Given the description of an element on the screen output the (x, y) to click on. 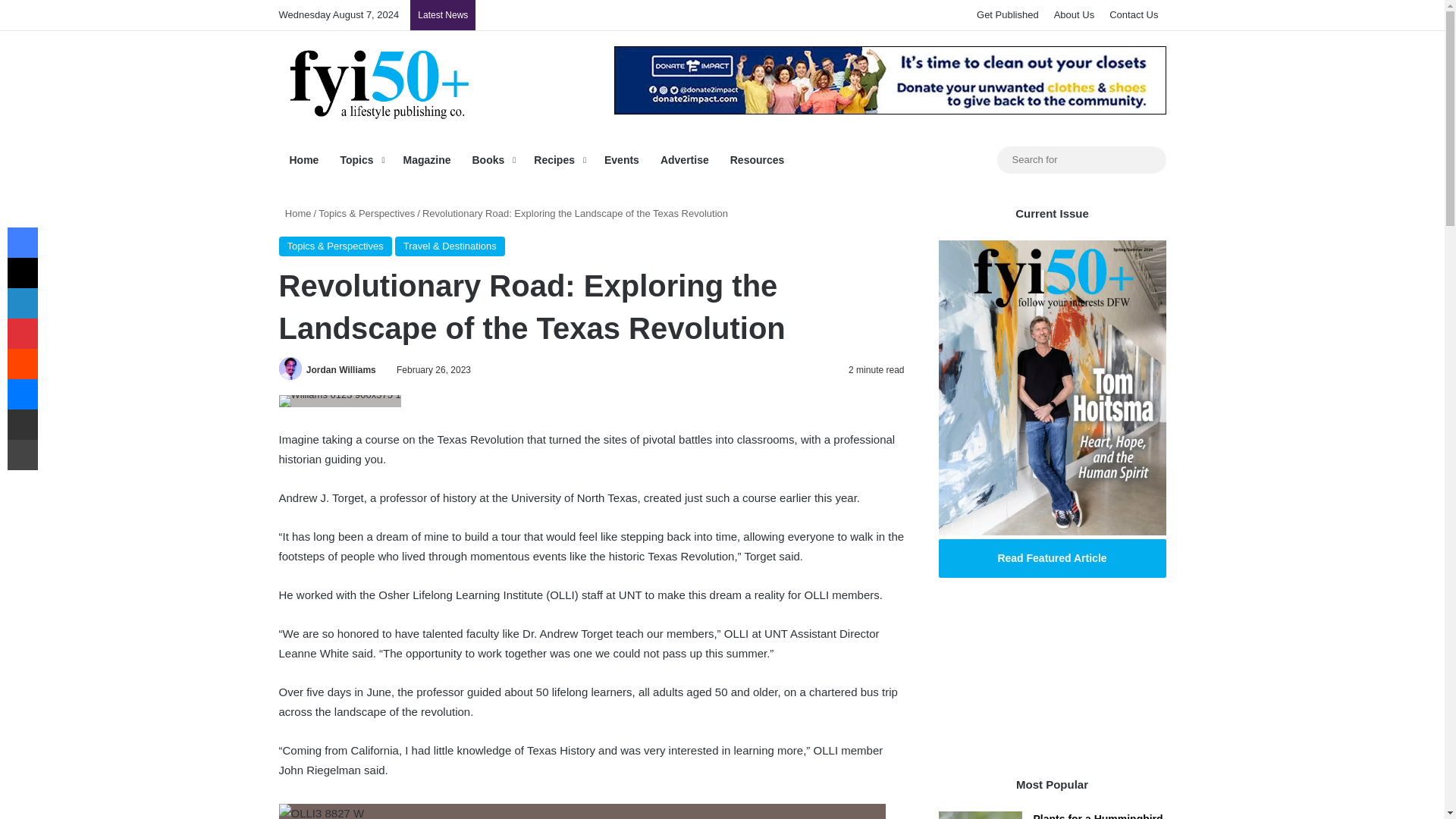
Magazine (426, 159)
About Us (1074, 15)
Plants for a Hummingbird Garden 8 (980, 815)
Advertise (684, 159)
Resources (756, 159)
Search for (1080, 159)
Contact Us (1134, 15)
Home (304, 159)
Jordan Williams (340, 369)
Get Published (1007, 15)
Events (621, 159)
Topics (360, 159)
Recipes (558, 159)
Books (491, 159)
